Given the description of an element on the screen output the (x, y) to click on. 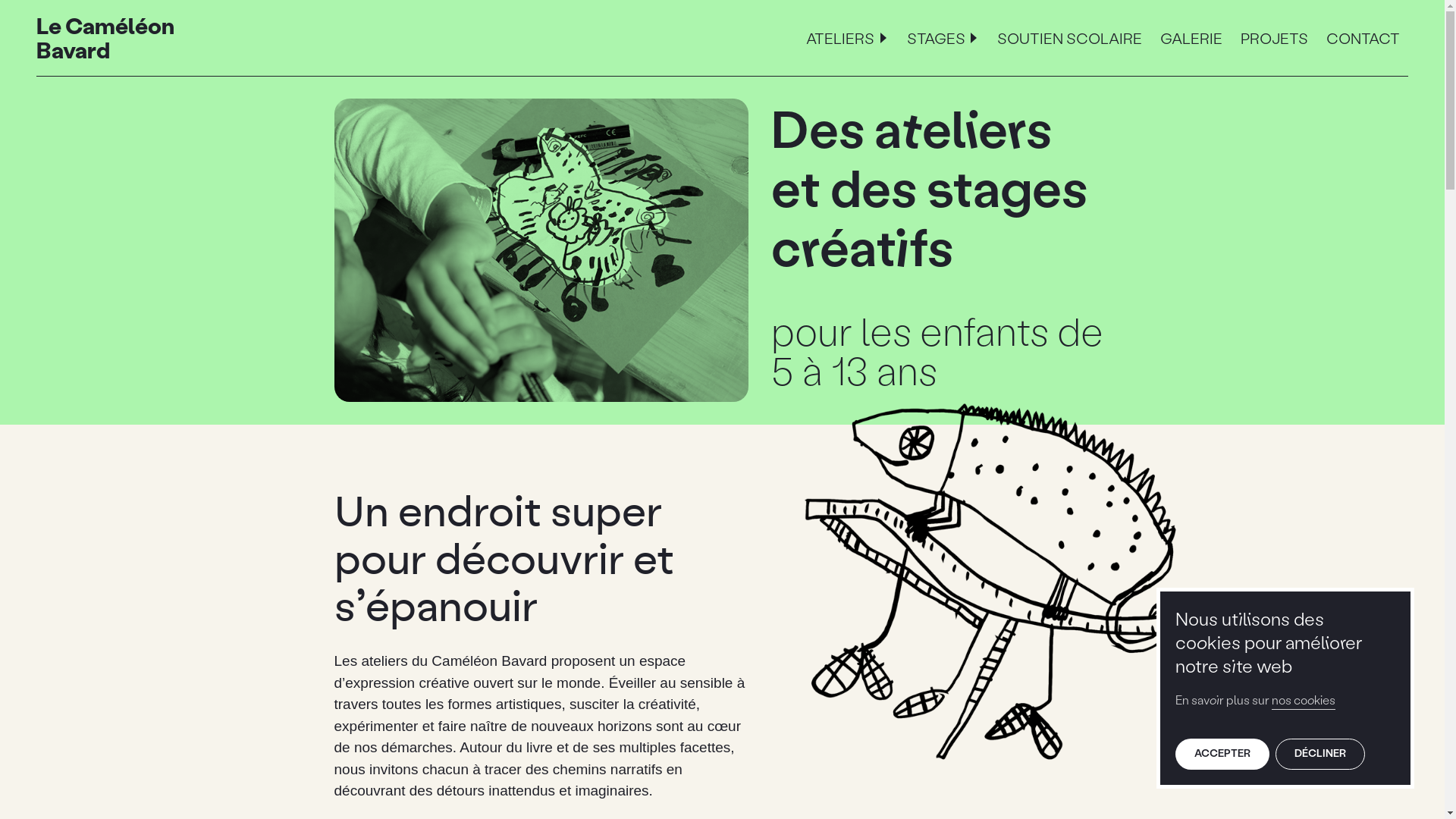
GALERIE Element type: text (1191, 37)
ACCEPTER Element type: text (1222, 753)
SOUTIEN SCOLAIRE Element type: text (1069, 37)
CONTACT Element type: text (1362, 37)
nos cookies Element type: text (1303, 699)
ATELIERS Element type: text (847, 37)
PROJETS Element type: text (1274, 37)
STAGES Element type: text (942, 37)
